Given the description of an element on the screen output the (x, y) to click on. 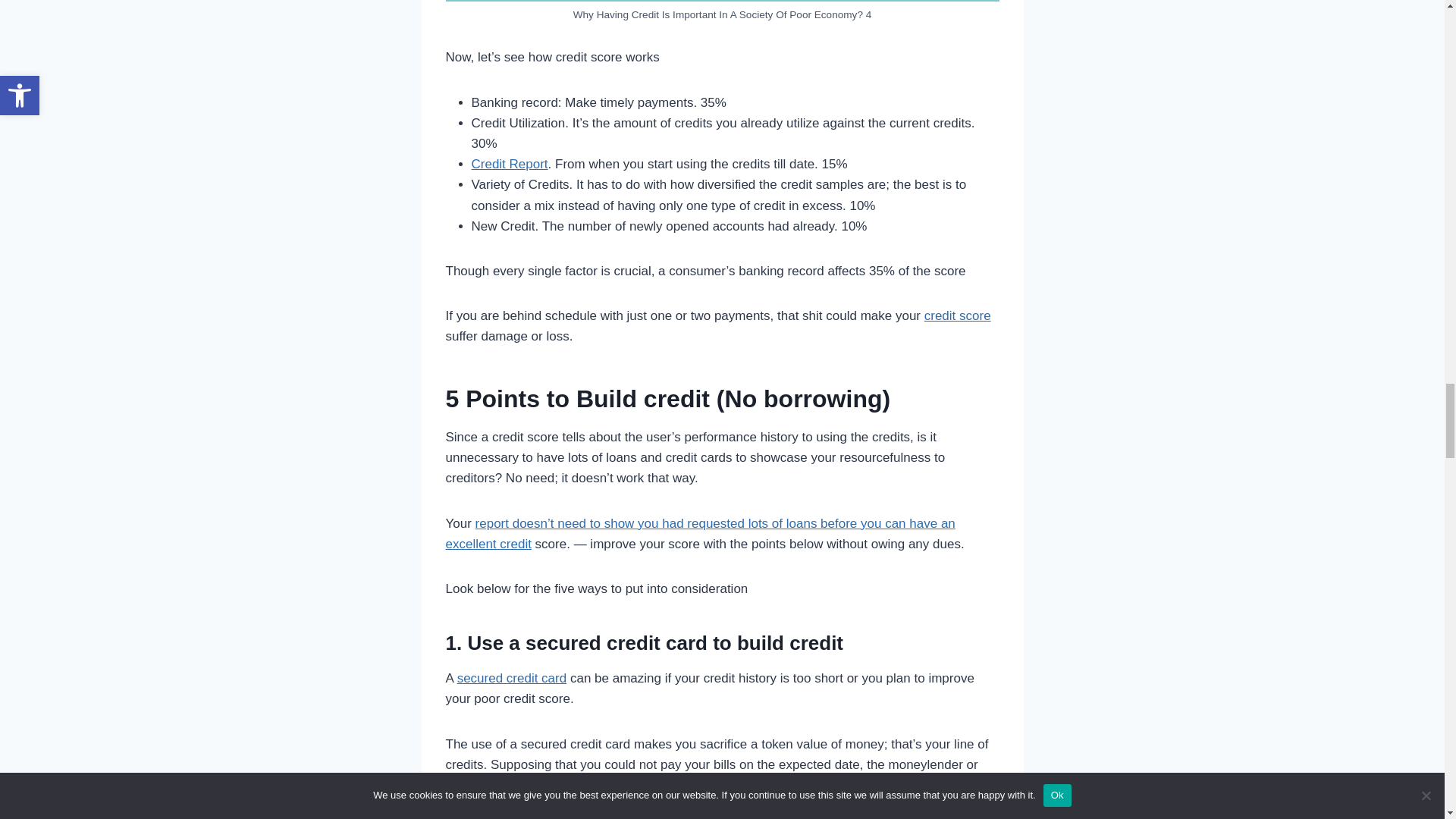
secured credit card (512, 677)
credit score (957, 315)
Credit Report (509, 164)
